Given the description of an element on the screen output the (x, y) to click on. 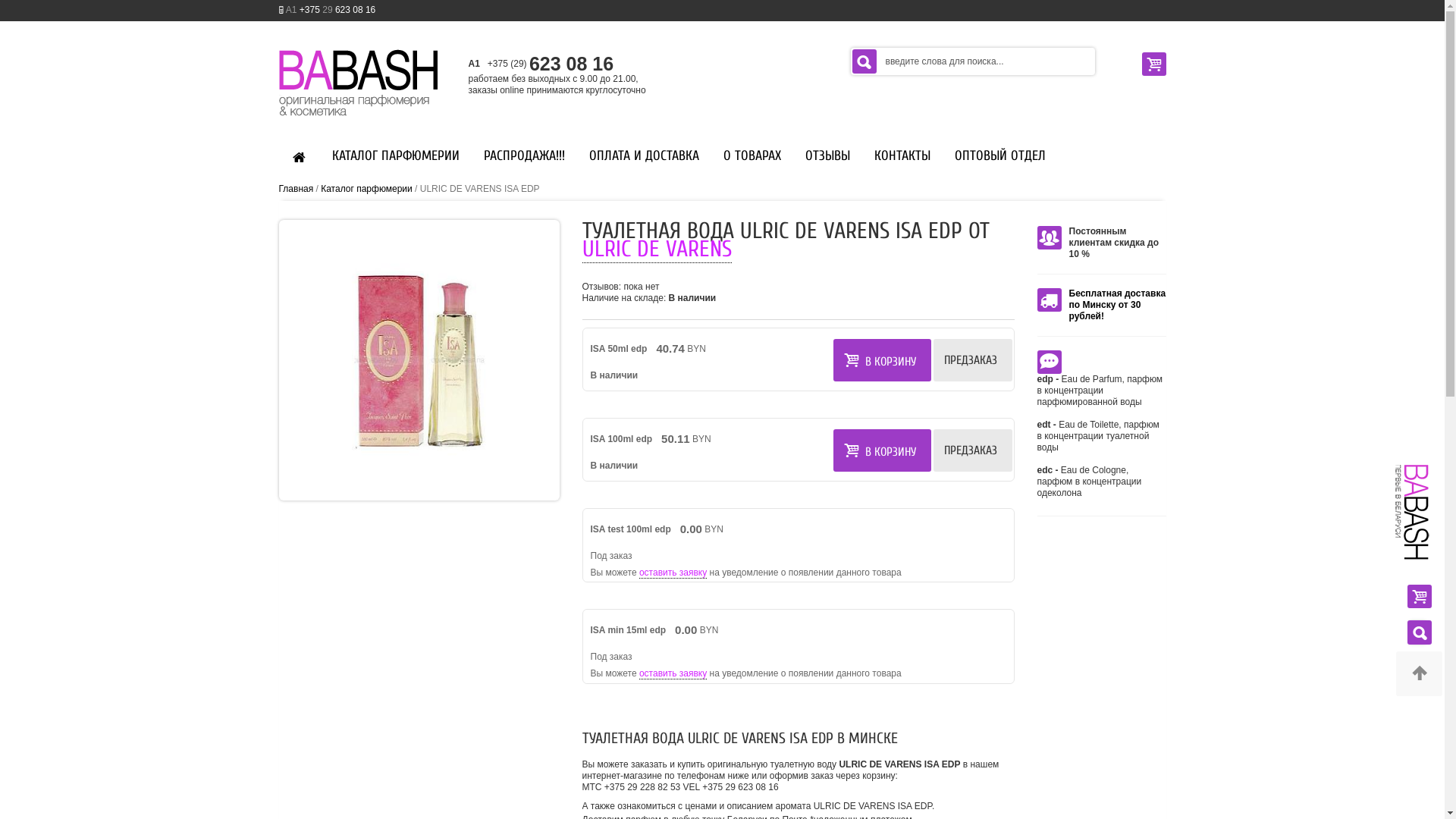
ULRIC DE VARENS Element type: text (656, 249)
ULRIC DE VARENS  ISA EDP Element type: hover (419, 359)
